Given the description of an element on the screen output the (x, y) to click on. 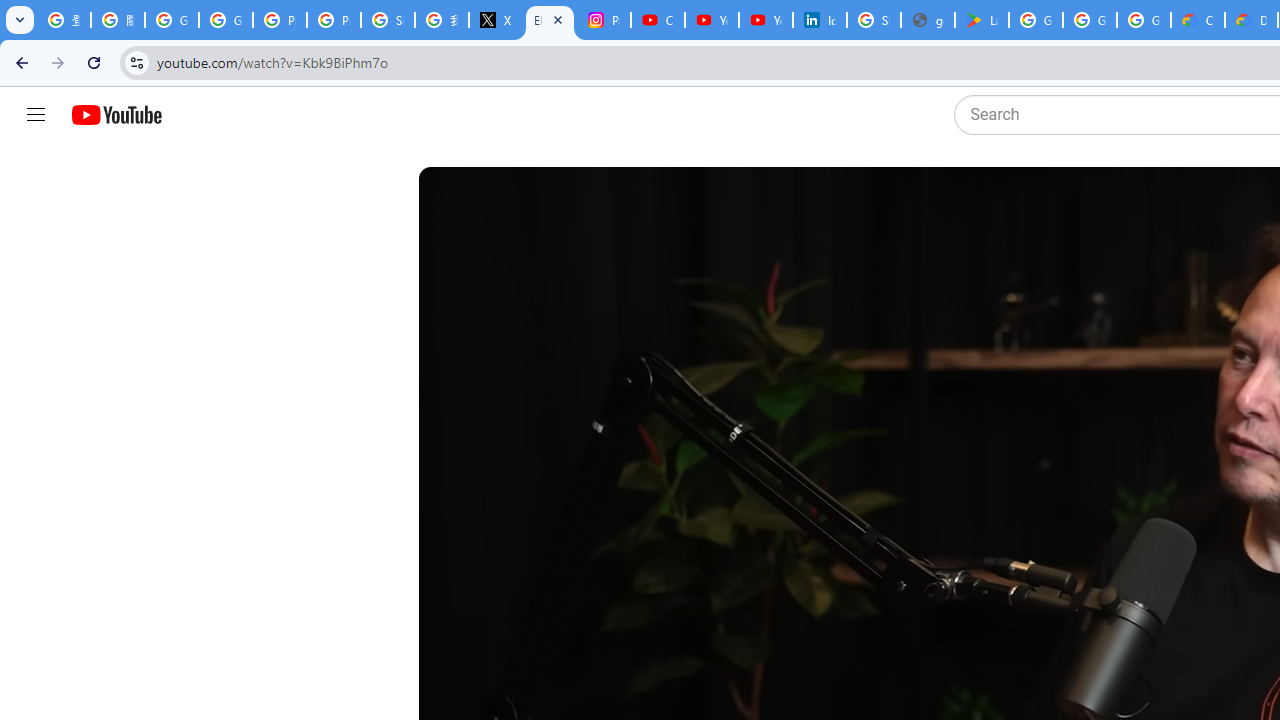
X (495, 20)
Privacy Help Center - Policies Help (280, 20)
